Given the description of an element on the screen output the (x, y) to click on. 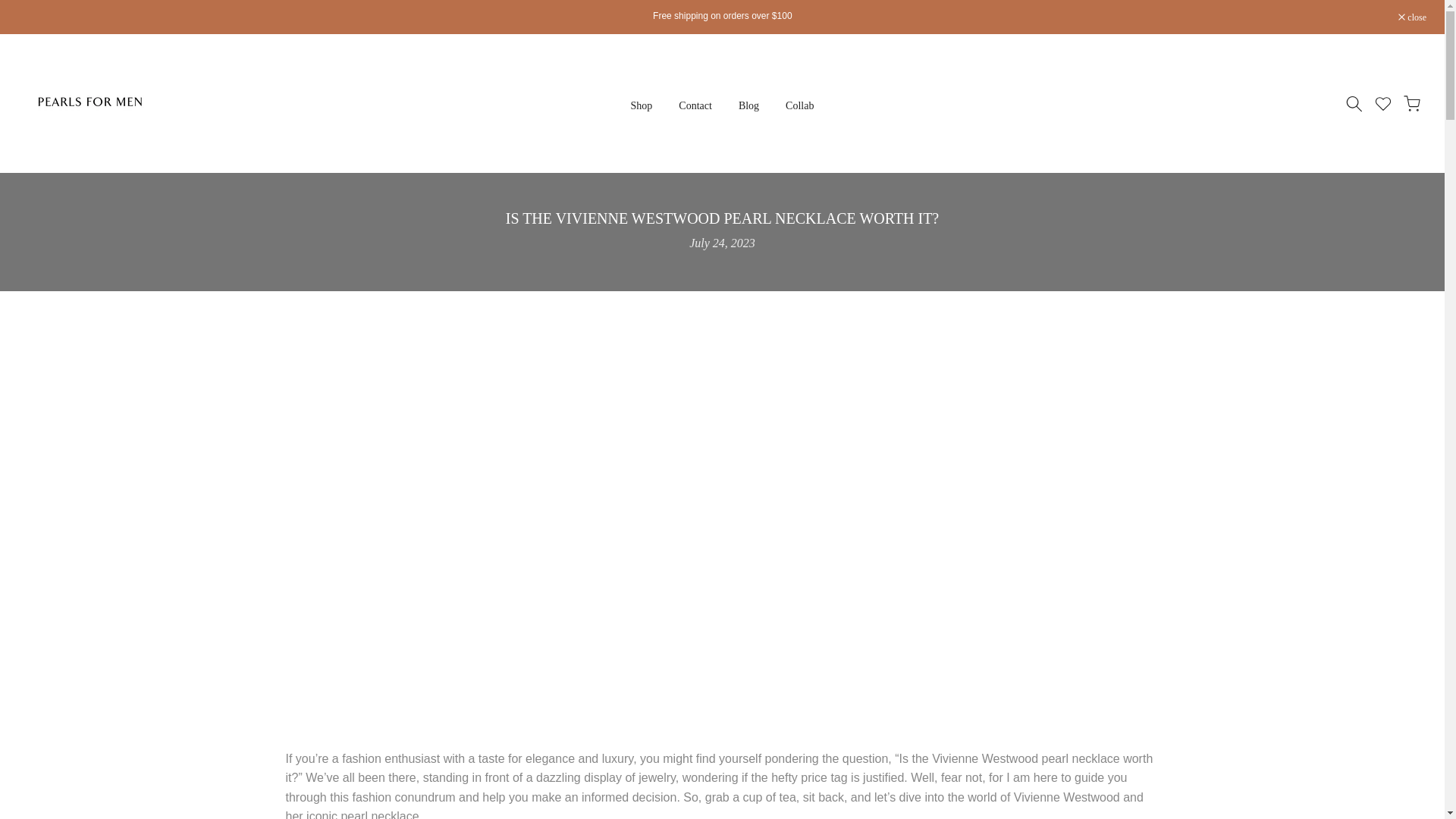
Skip to content (10, 7)
Contact (695, 106)
Collab (800, 106)
close (1411, 16)
Blog (748, 106)
Shop (641, 106)
